Given the description of an element on the screen output the (x, y) to click on. 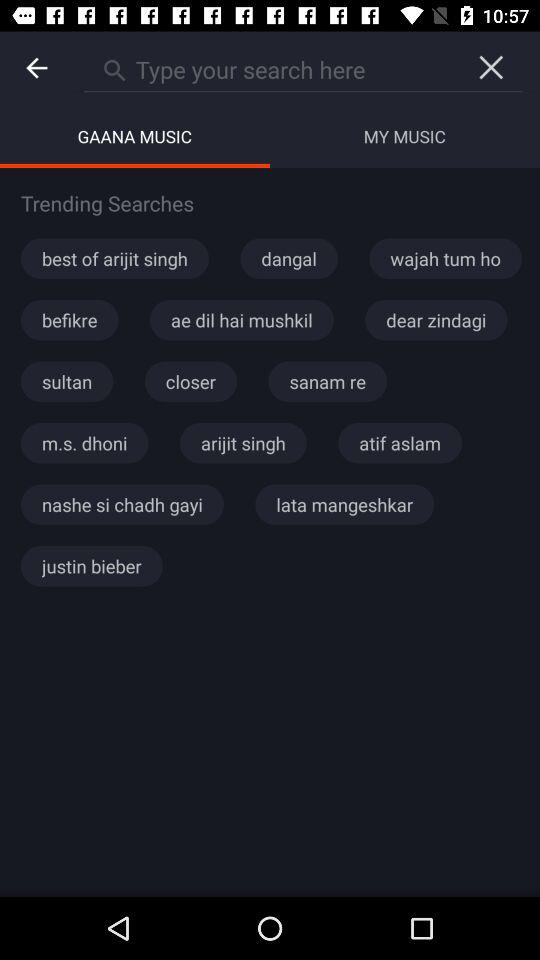
open atif aslam icon (399, 443)
